Given the description of an element on the screen output the (x, y) to click on. 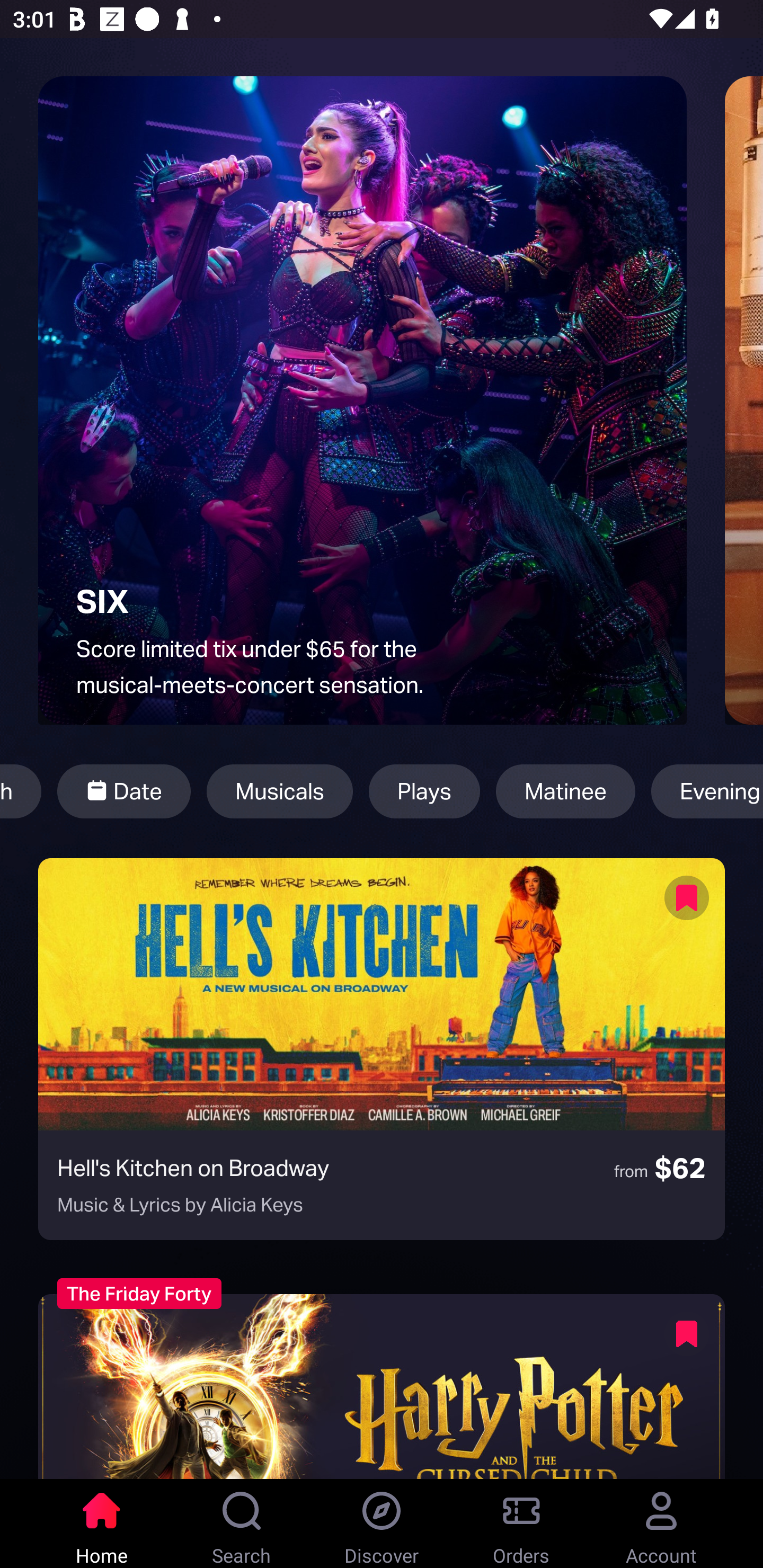
Date (123, 791)
Musicals (279, 791)
Plays (423, 791)
Matinee (565, 791)
Search (241, 1523)
Discover (381, 1523)
Orders (521, 1523)
Account (660, 1523)
